Given the description of an element on the screen output the (x, y) to click on. 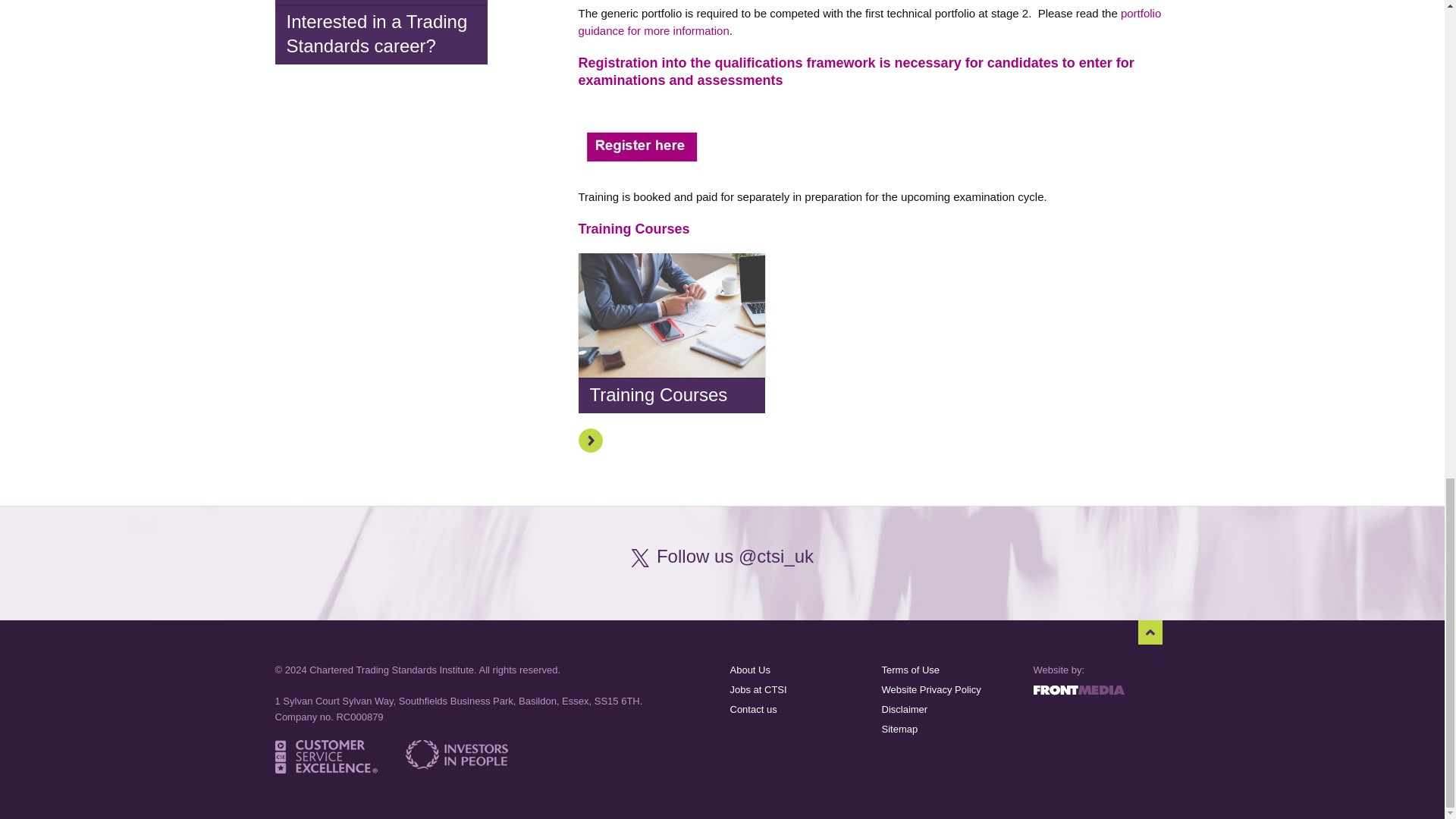
CPCF registration (873, 155)
portfolio guidance (869, 21)
